Given the description of an element on the screen output the (x, y) to click on. 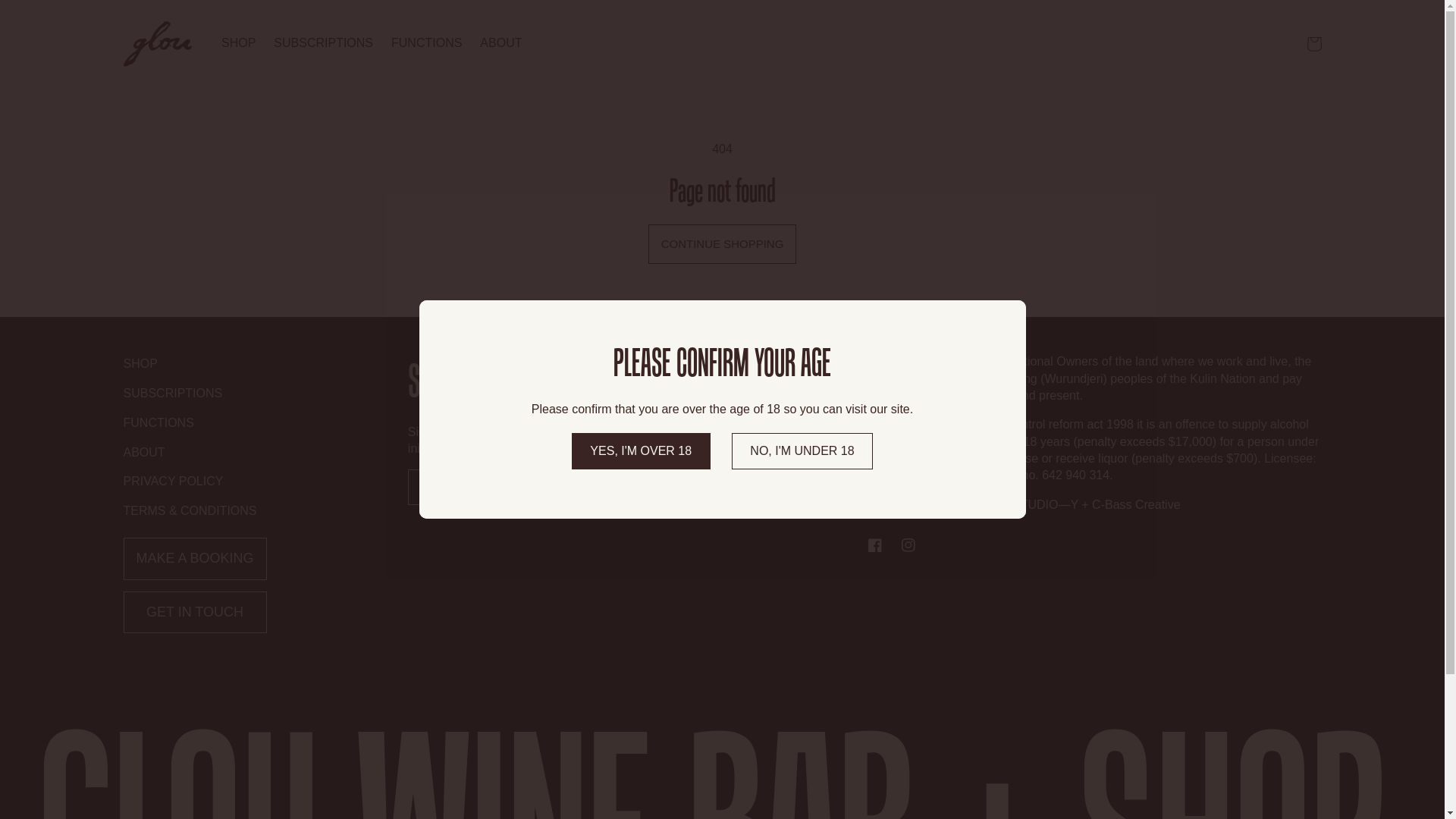
SUBSCRIPTIONS Element type: text (172, 393)
NO, I'M UNDER 18 Element type: text (801, 451)
YES, I'M OVER 18 Element type: text (640, 451)
Cart Element type: text (1313, 43)
ABOUT Element type: text (500, 43)
SHOP Element type: text (238, 43)
ABOUT Element type: text (143, 452)
GET IN TOUCH Element type: text (194, 612)
SUBSCRIPTIONS Element type: text (323, 43)
MAKE A BOOKING Element type: text (194, 558)
Instagram Element type: text (908, 544)
FUNCTIONS Element type: text (157, 423)
FUNCTIONS Element type: text (426, 43)
PRIVACY POLICY Element type: text (172, 481)
SHOP Element type: text (139, 366)
TERMS & CONDITIONS Element type: text (189, 511)
Facebook Element type: text (874, 544)
CONTINUE SHOPPING Element type: text (722, 243)
